Given the description of an element on the screen output the (x, y) to click on. 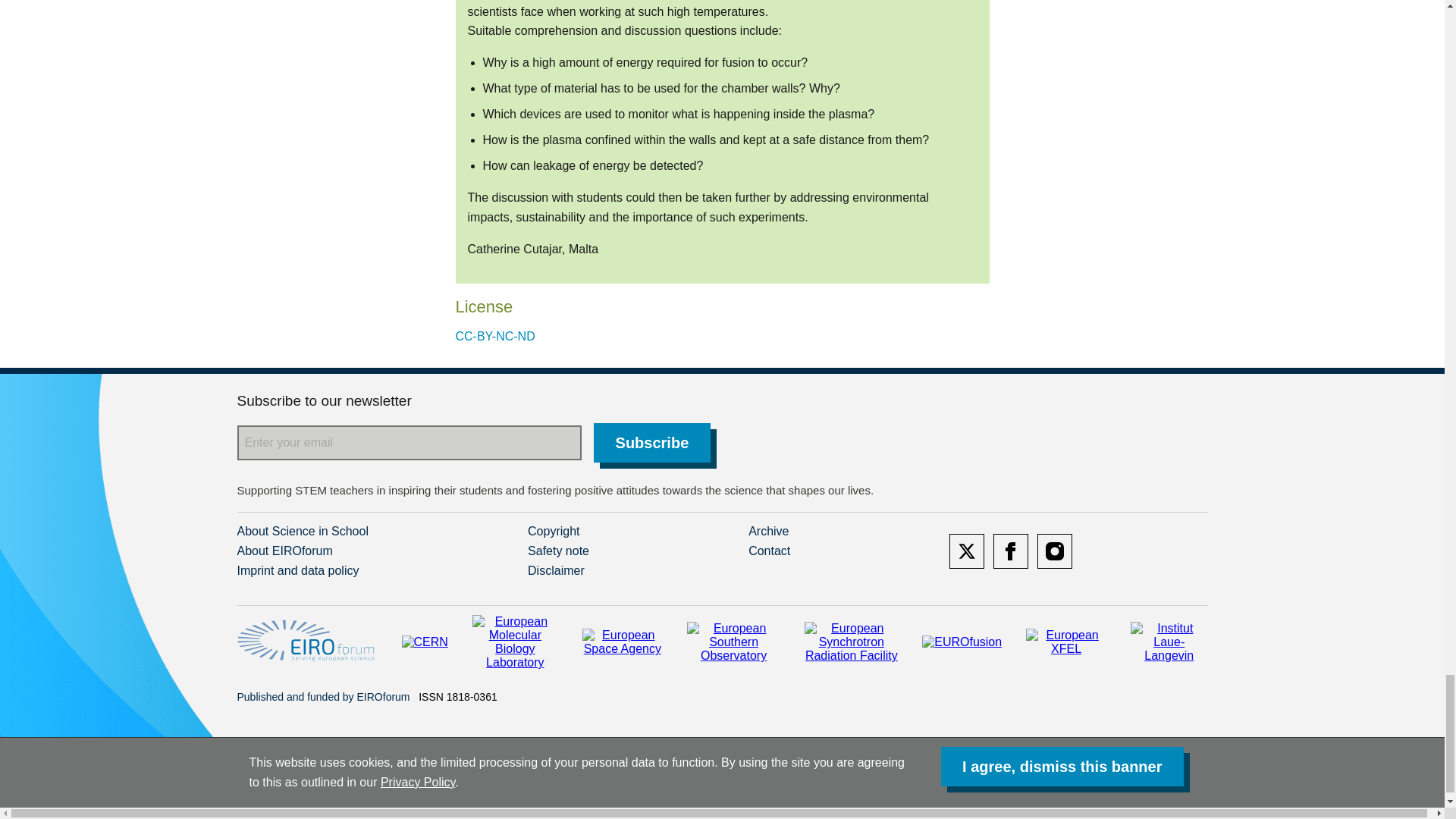
European Space Agency (622, 642)
CERN (424, 642)
EUROfusion (961, 642)
European Molecular Biology Laboratory (514, 642)
European Southern Observatory (733, 641)
Institut Laue-Langevin (1169, 641)
European XFEL (1066, 642)
European Synchrotron Radiation Facility (851, 641)
